Given the description of an element on the screen output the (x, y) to click on. 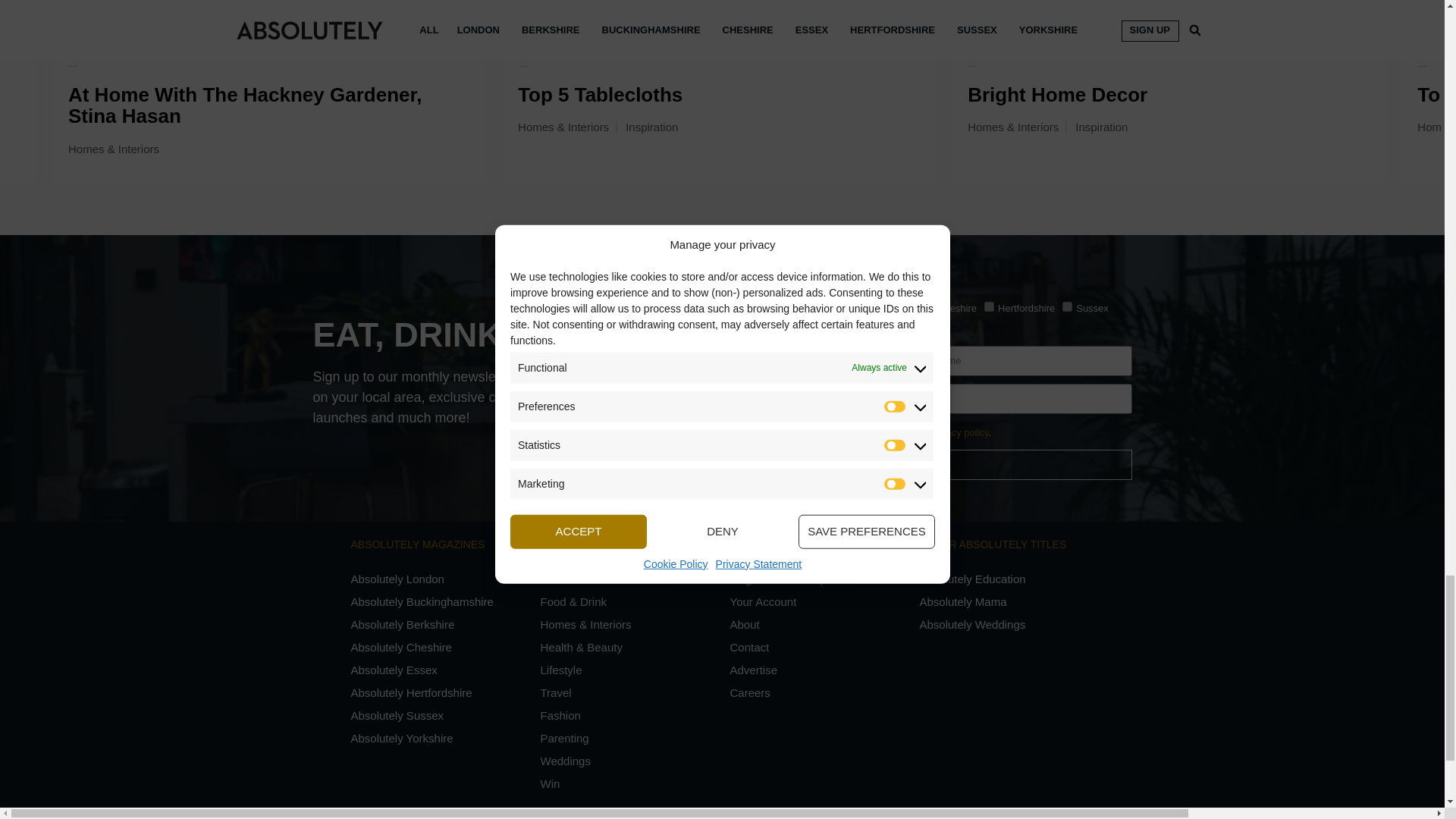
Sussex (1066, 307)
Yorkshire (666, 327)
Buckinghamshire (831, 307)
Cheshire (928, 307)
on (666, 430)
Berkshire (767, 307)
Hertfordshire (989, 307)
Essex (720, 307)
London (666, 307)
